Given the description of an element on the screen output the (x, y) to click on. 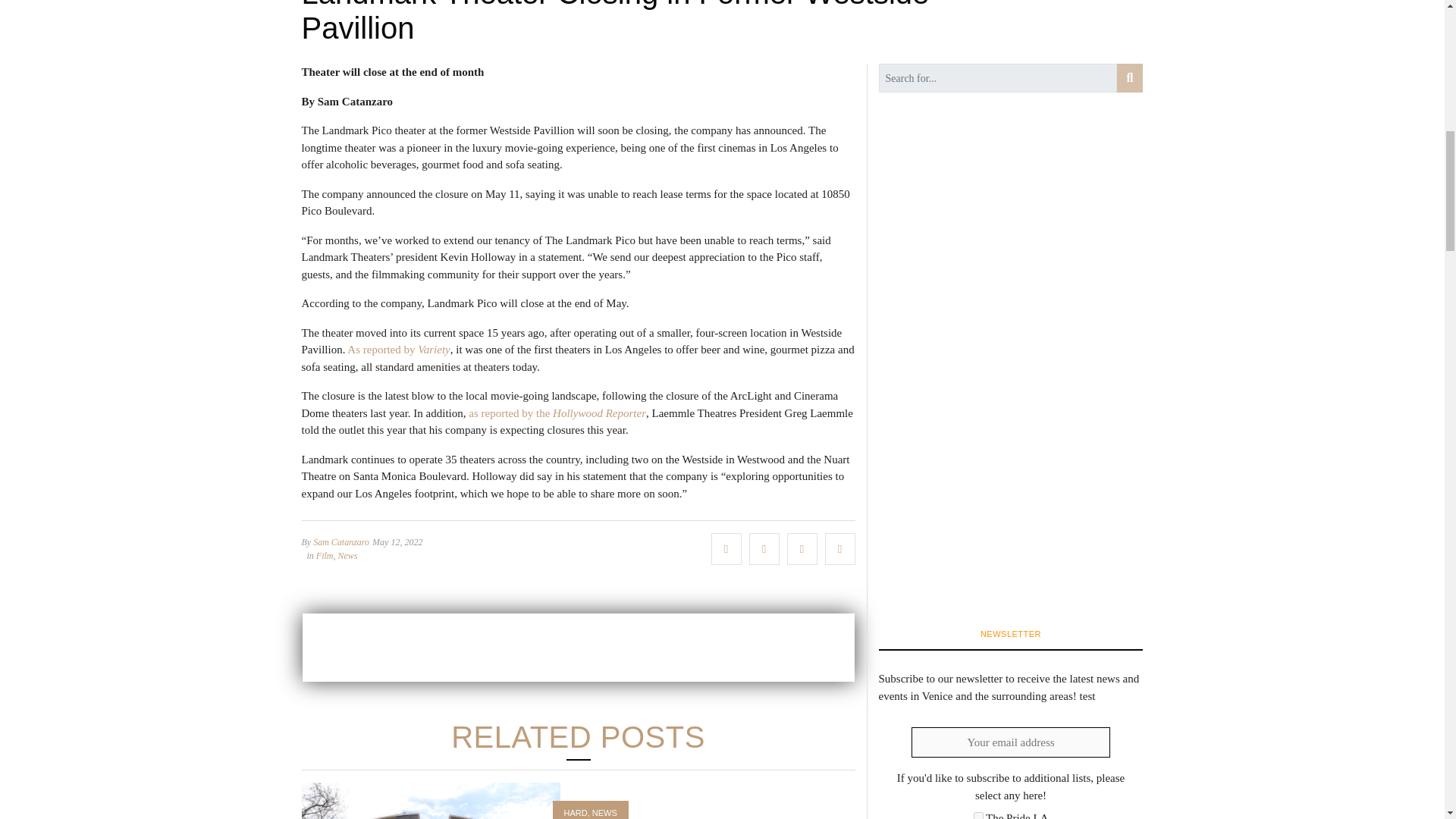
3rd party ad content (577, 647)
33f79e7e4d (979, 815)
Film (324, 555)
Sam Catanzaro (341, 542)
Posts by Sam Catanzaro (341, 542)
as reported by the Hollywood Reporter (557, 412)
News (347, 555)
As reported by Variety (398, 349)
